Given the description of an element on the screen output the (x, y) to click on. 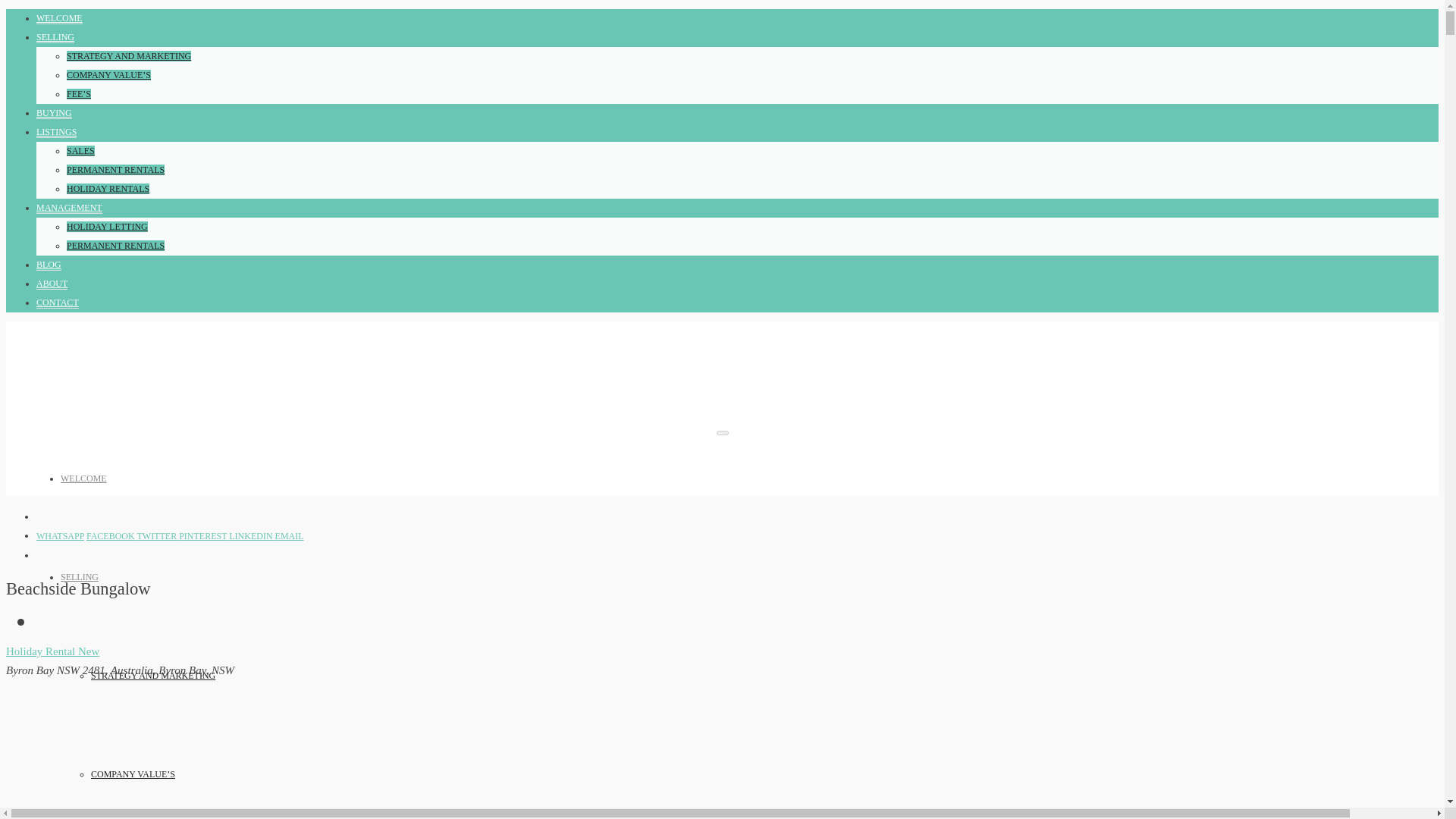
SELLING (55, 37)
PERMANENT RENTALS (115, 170)
TWITTER (157, 535)
HOLIDAY LETTING (107, 226)
HOLIDAY RENTALS (107, 188)
PERMANENT RENTALS (115, 245)
LINKEDIN (251, 535)
STRATEGY AND MARKETING (128, 56)
PINTEREST (203, 535)
FACEBOOK (110, 535)
